Given the description of an element on the screen output the (x, y) to click on. 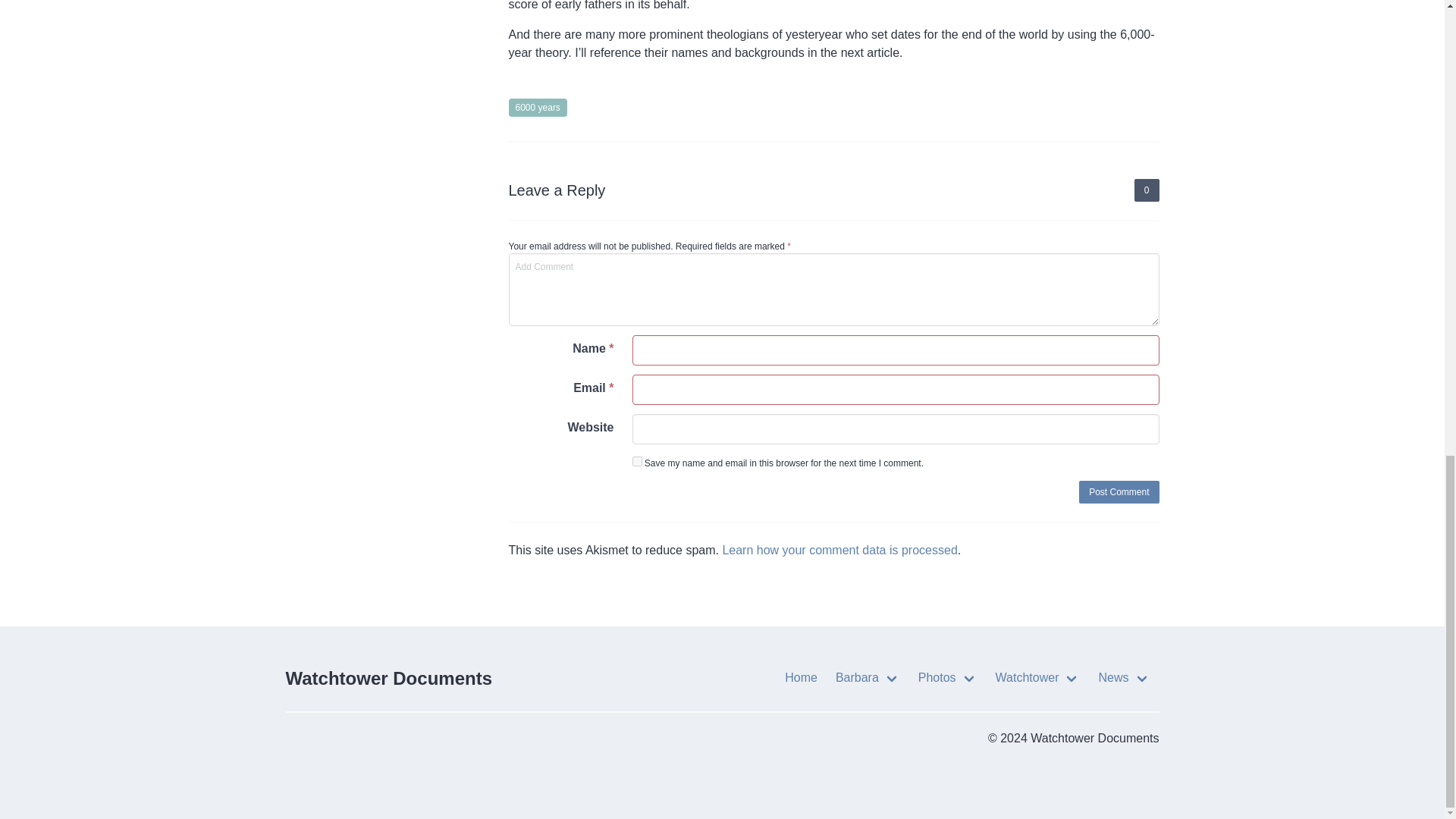
Post Comment (1118, 491)
yes (636, 461)
